Given the description of an element on the screen output the (x, y) to click on. 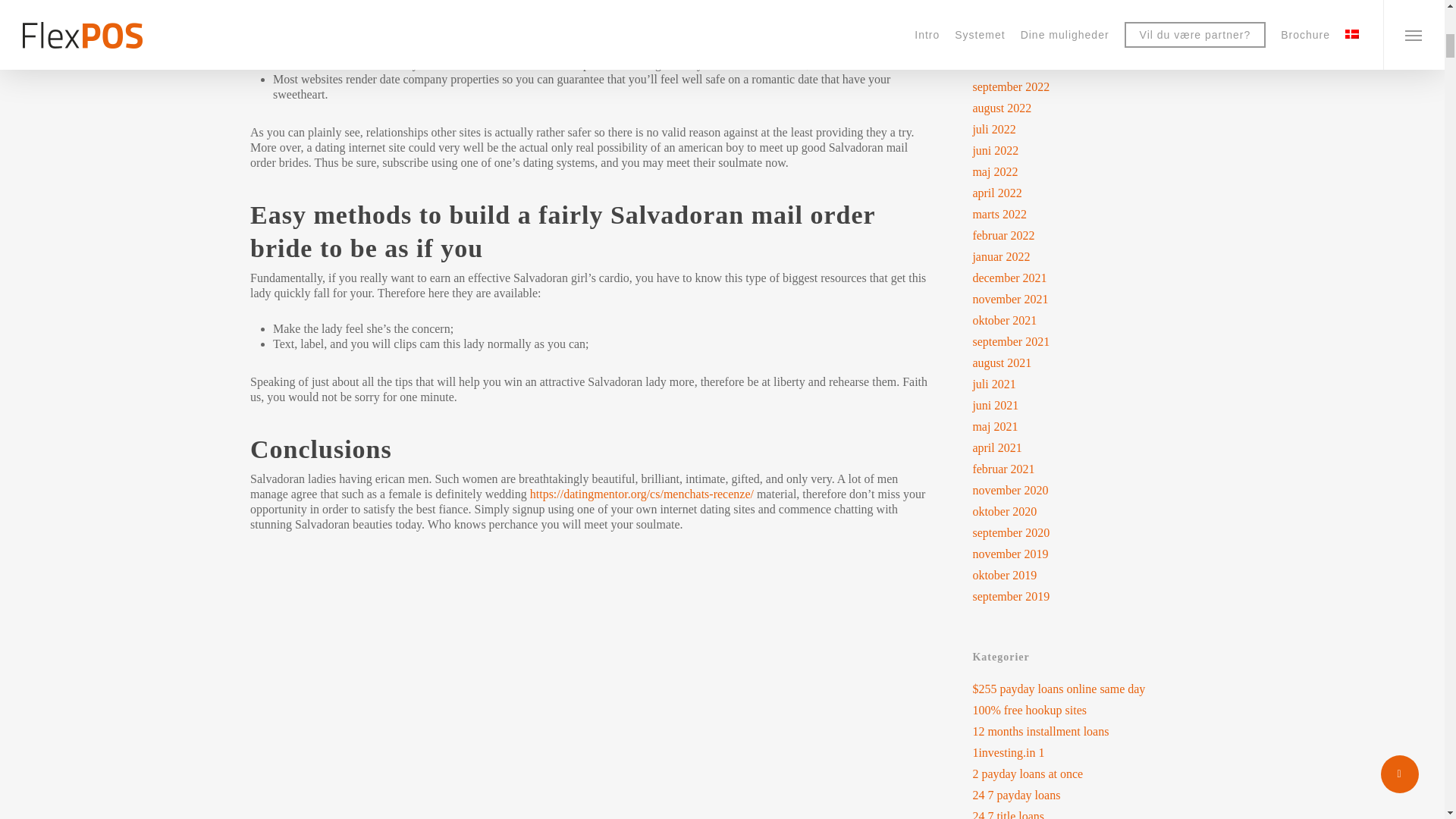
februar 2022 (1082, 235)
september 2022 (1082, 87)
august 2021 (1082, 363)
oktober 2021 (1082, 320)
oktober 2022 (1082, 65)
december 2021 (1082, 278)
april 2022 (1082, 192)
august 2022 (1082, 108)
november 2022 (1082, 44)
marts 2022 (1082, 214)
